Given the description of an element on the screen output the (x, y) to click on. 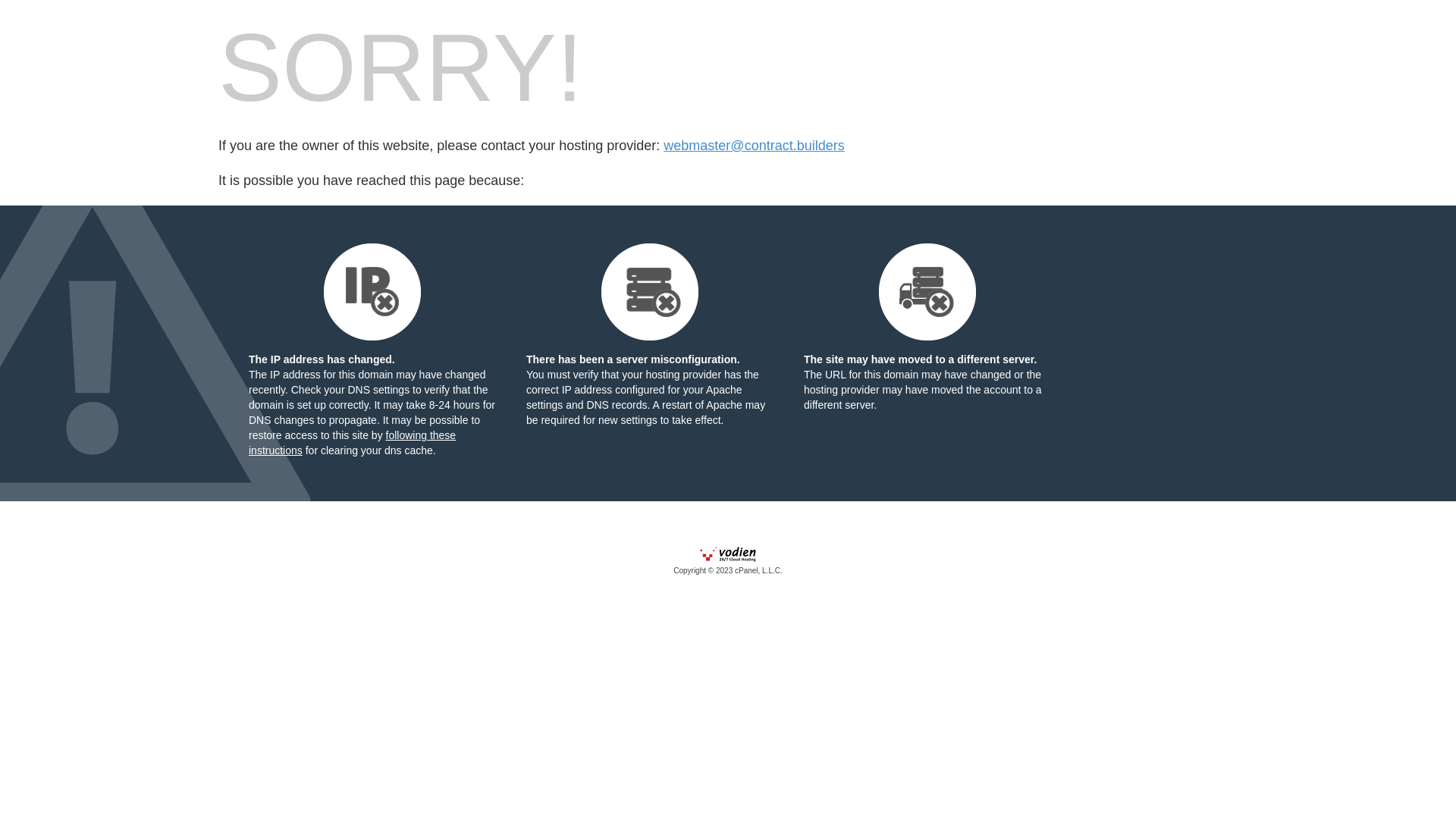
following these instructions Element type: text (351, 442)
webmaster@contract.builders Element type: text (753, 145)
